Given the description of an element on the screen output the (x, y) to click on. 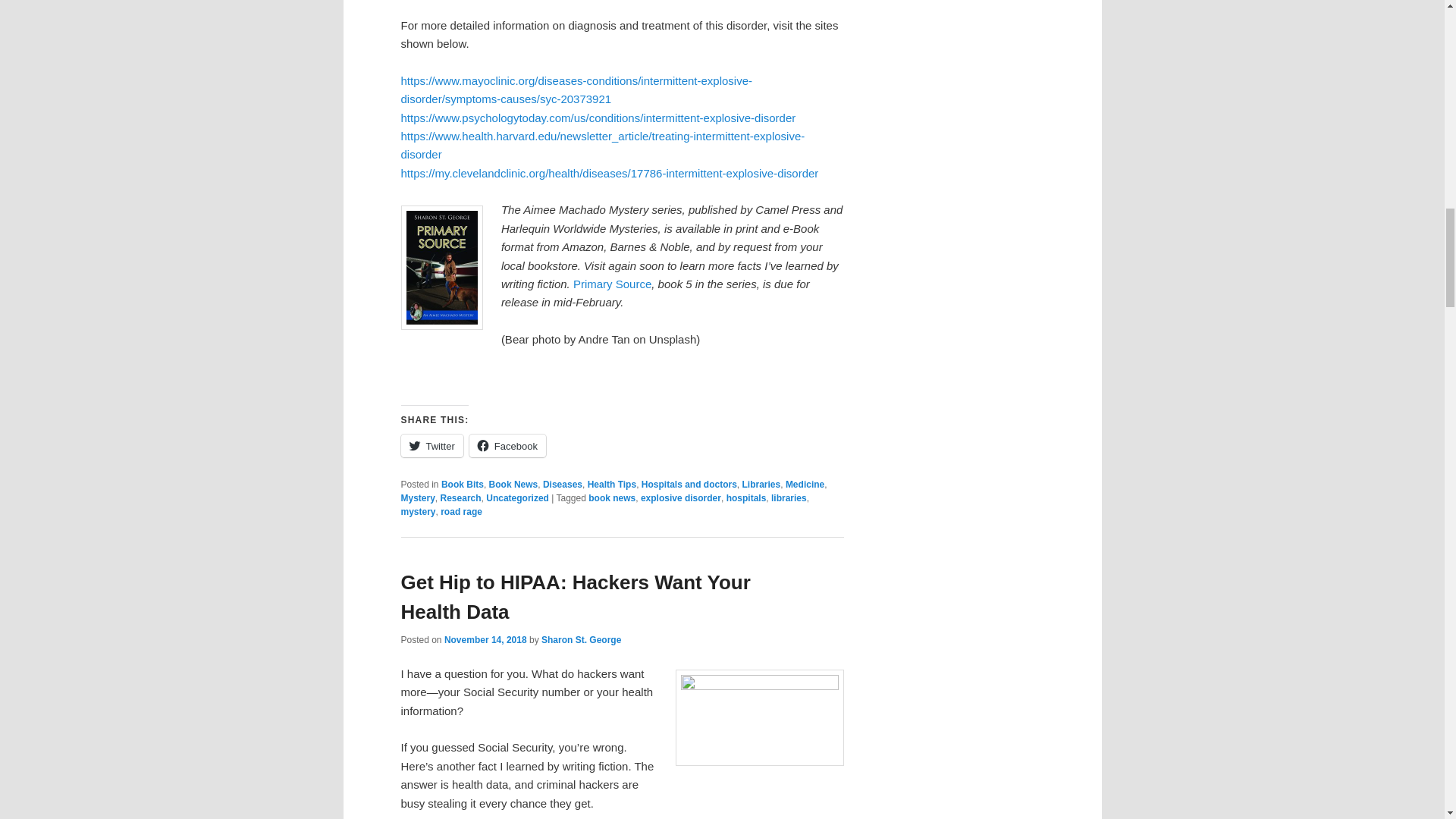
3:46 pm (485, 639)
View all posts by Sharon St. George (581, 639)
Click to share on Twitter (431, 445)
Click to share on Facebook (507, 445)
